Given the description of an element on the screen output the (x, y) to click on. 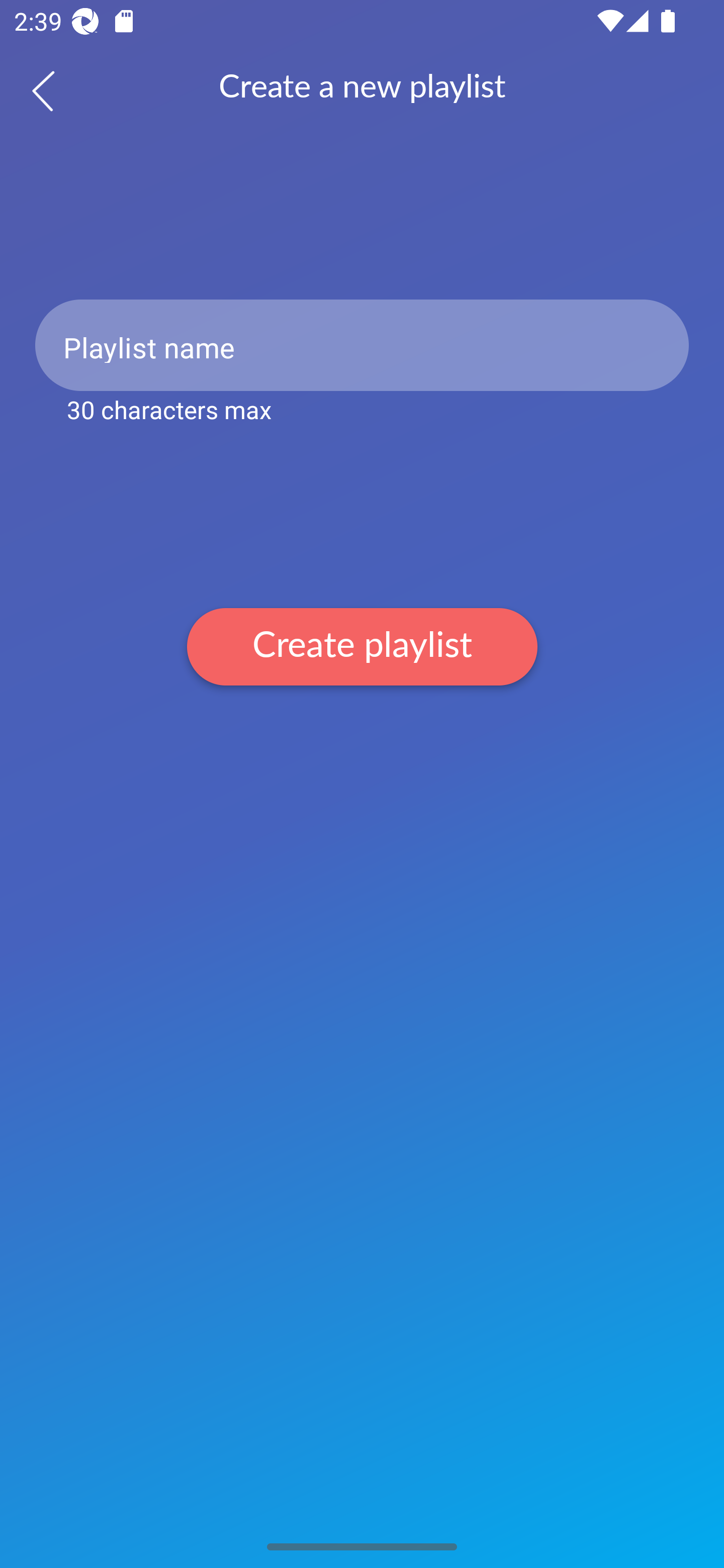
Playlist name (361, 344)
Create playlist (362, 646)
